Given the description of an element on the screen output the (x, y) to click on. 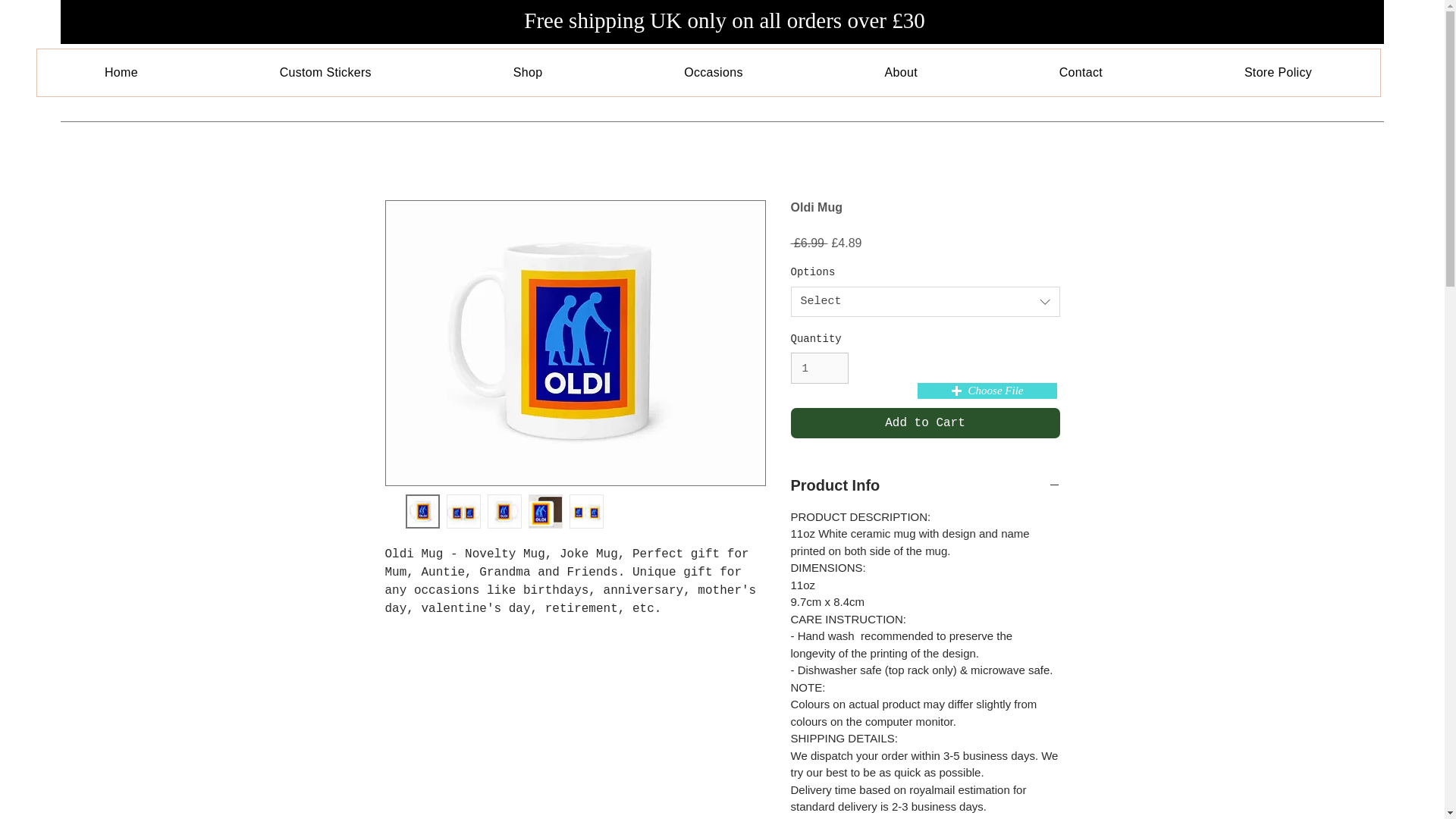
About (900, 72)
Home (120, 72)
Store Policy (1277, 72)
1 (818, 368)
Product Info (924, 485)
Select (924, 301)
Custom Stickers (325, 72)
Contact (1080, 72)
Occasions (712, 72)
Shop (527, 72)
Add to Cart (924, 422)
